Given the description of an element on the screen output the (x, y) to click on. 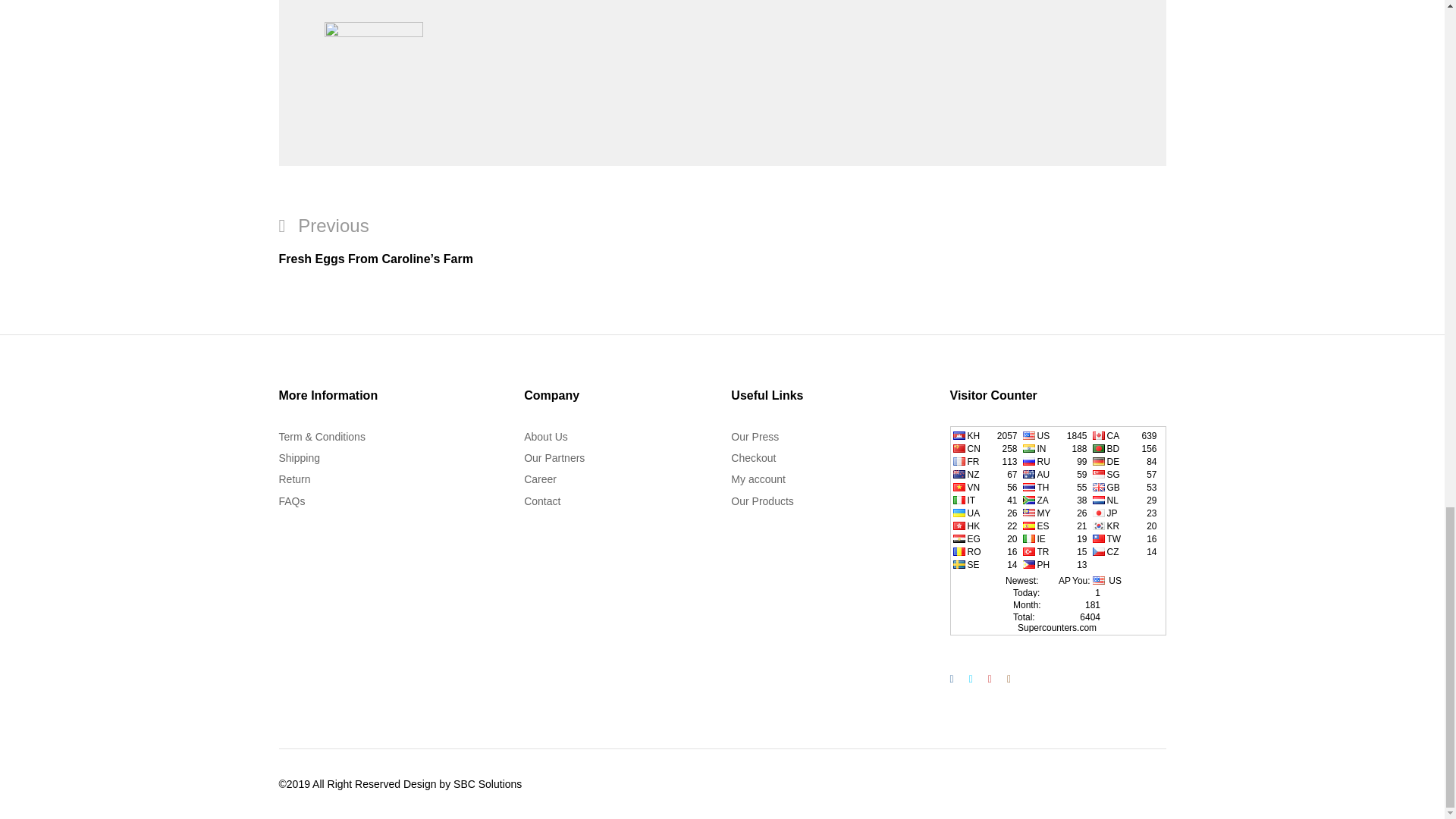
Youtube (988, 678)
Our Partners (554, 458)
Shipping (299, 458)
Twitter (969, 678)
About Us (545, 436)
Flag Counter (1057, 530)
Facebook (951, 678)
Instagram (1007, 678)
Return (295, 479)
Career (540, 479)
